Given the description of an element on the screen output the (x, y) to click on. 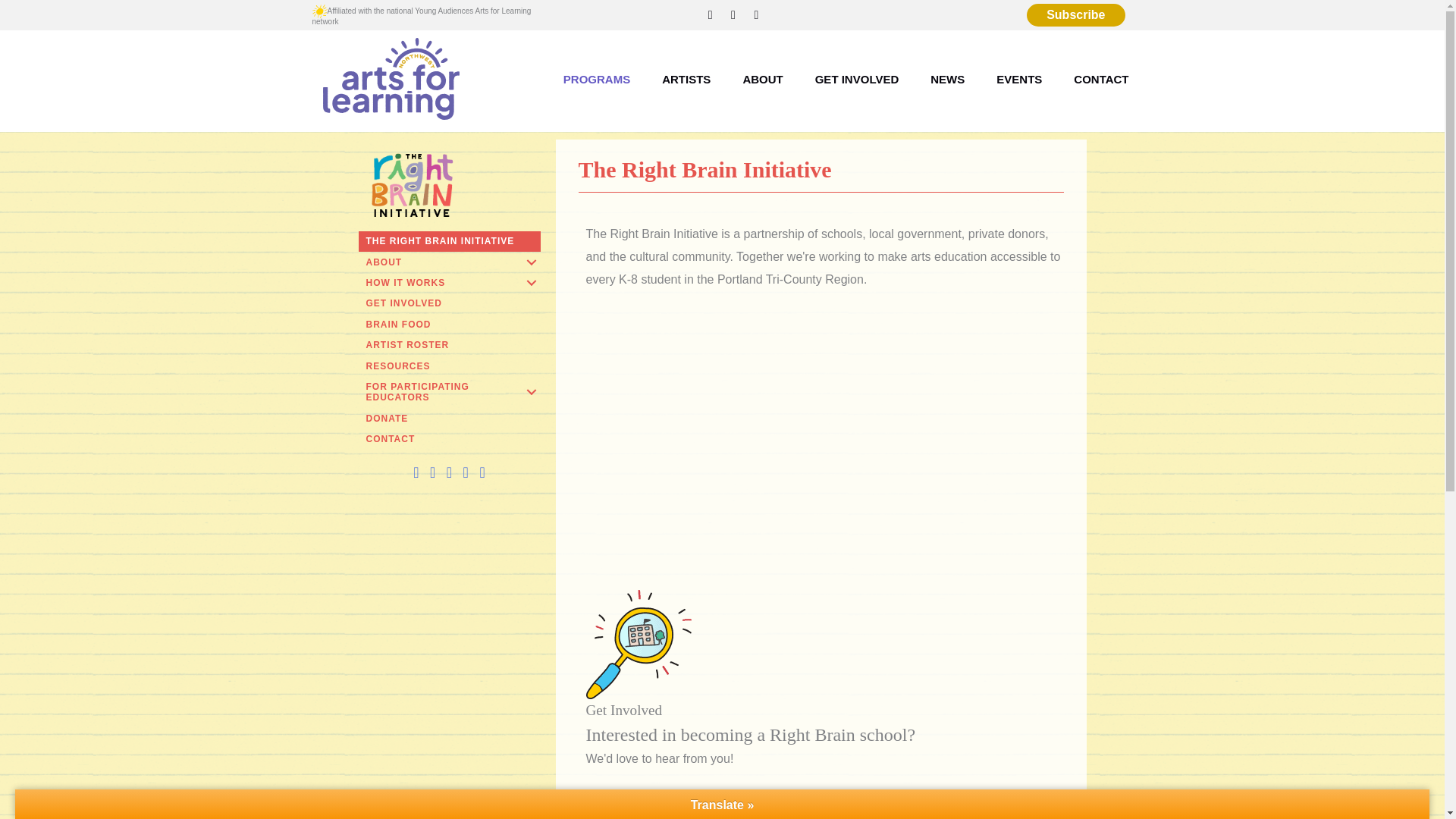
The Right Brain Effect (823, 439)
Click Here (633, 805)
Subscribe (1075, 15)
Vector-Smart-Object-6-e1464312222929 (637, 644)
